Given the description of an element on the screen output the (x, y) to click on. 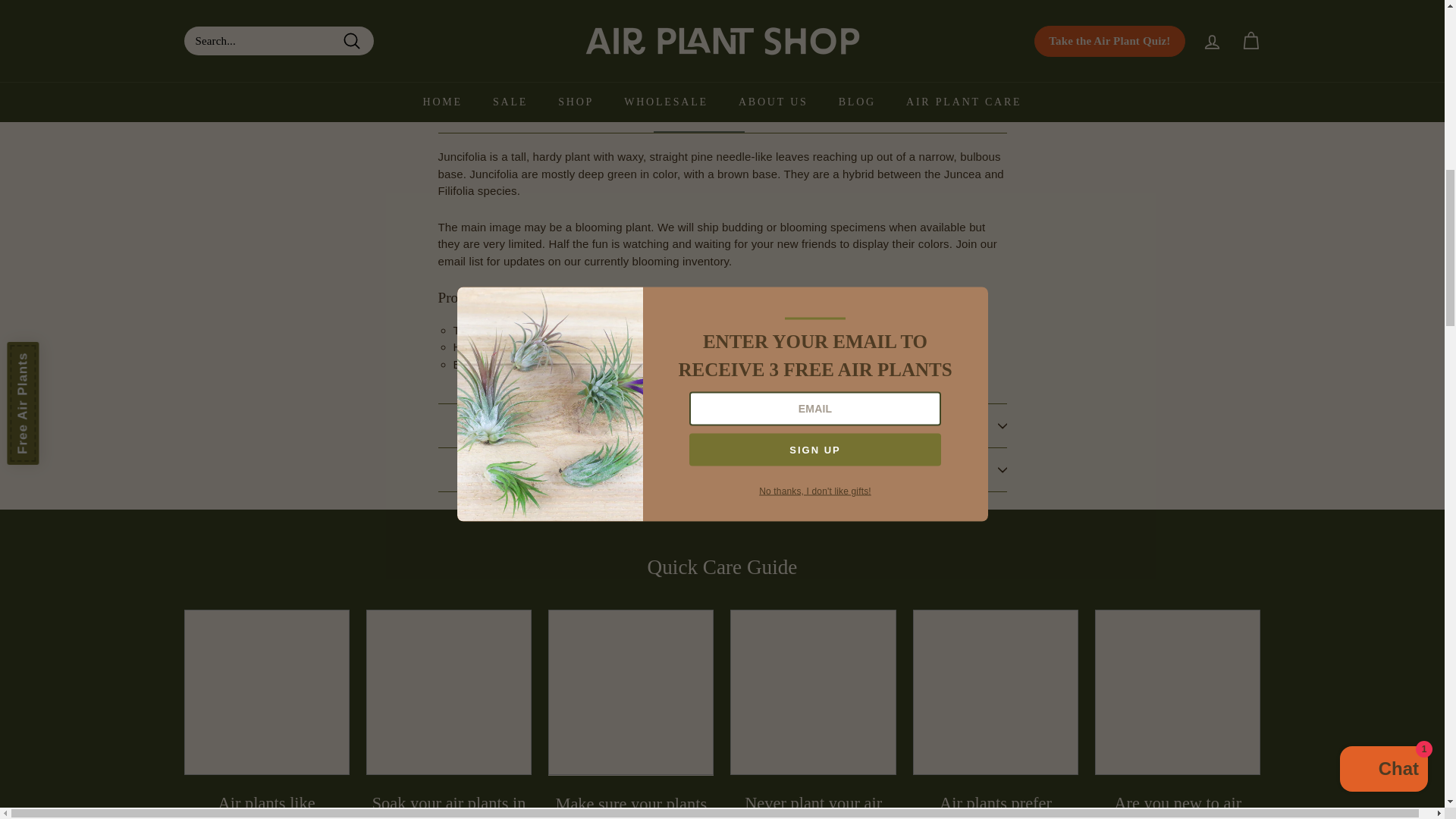
Pin on Pinterest (1041, 58)
Tweet on Twitter (972, 58)
Share on Facebook (903, 58)
